Given the description of an element on the screen output the (x, y) to click on. 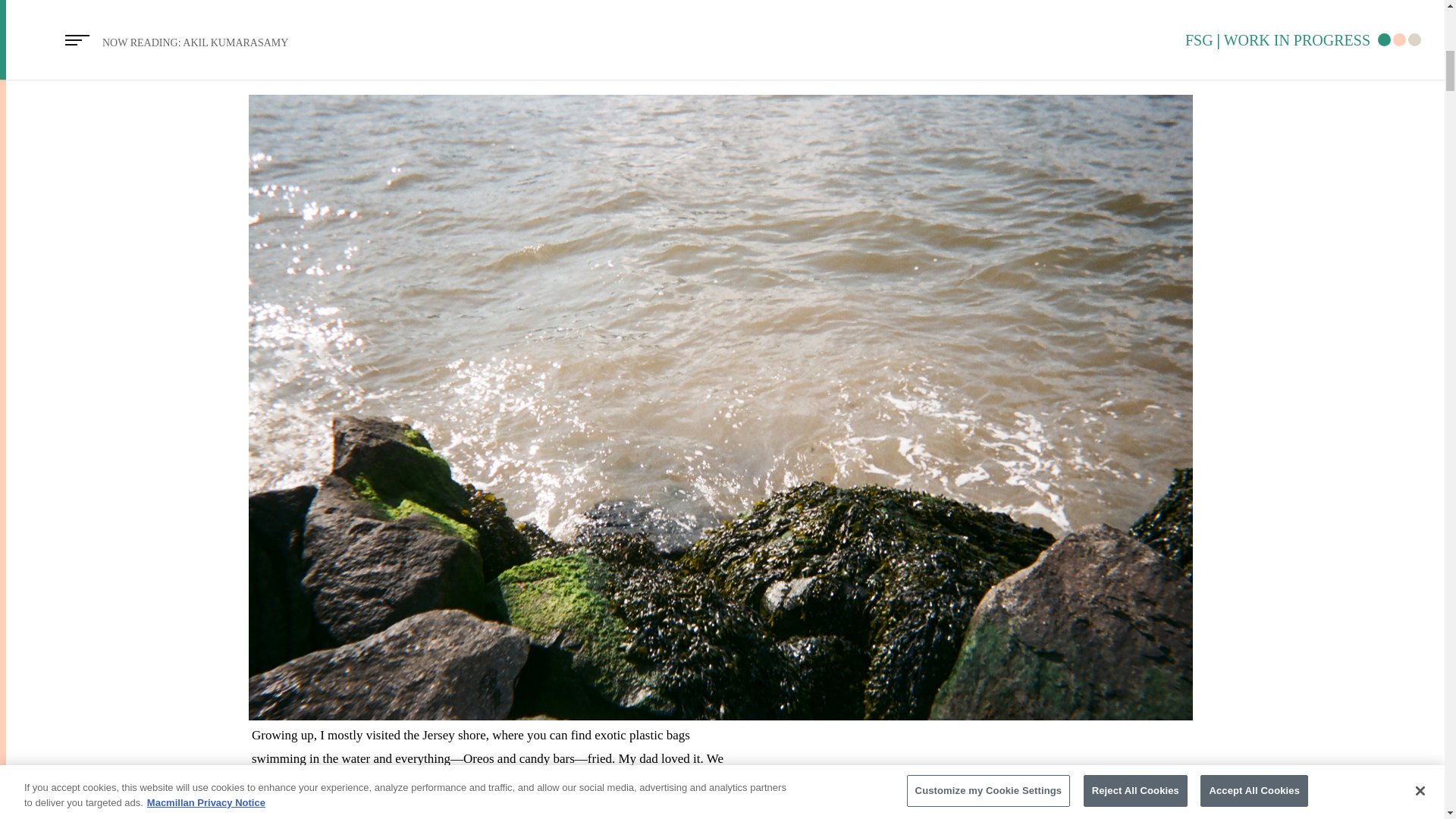
Half Gods (429, 36)
